Given the description of an element on the screen output the (x, y) to click on. 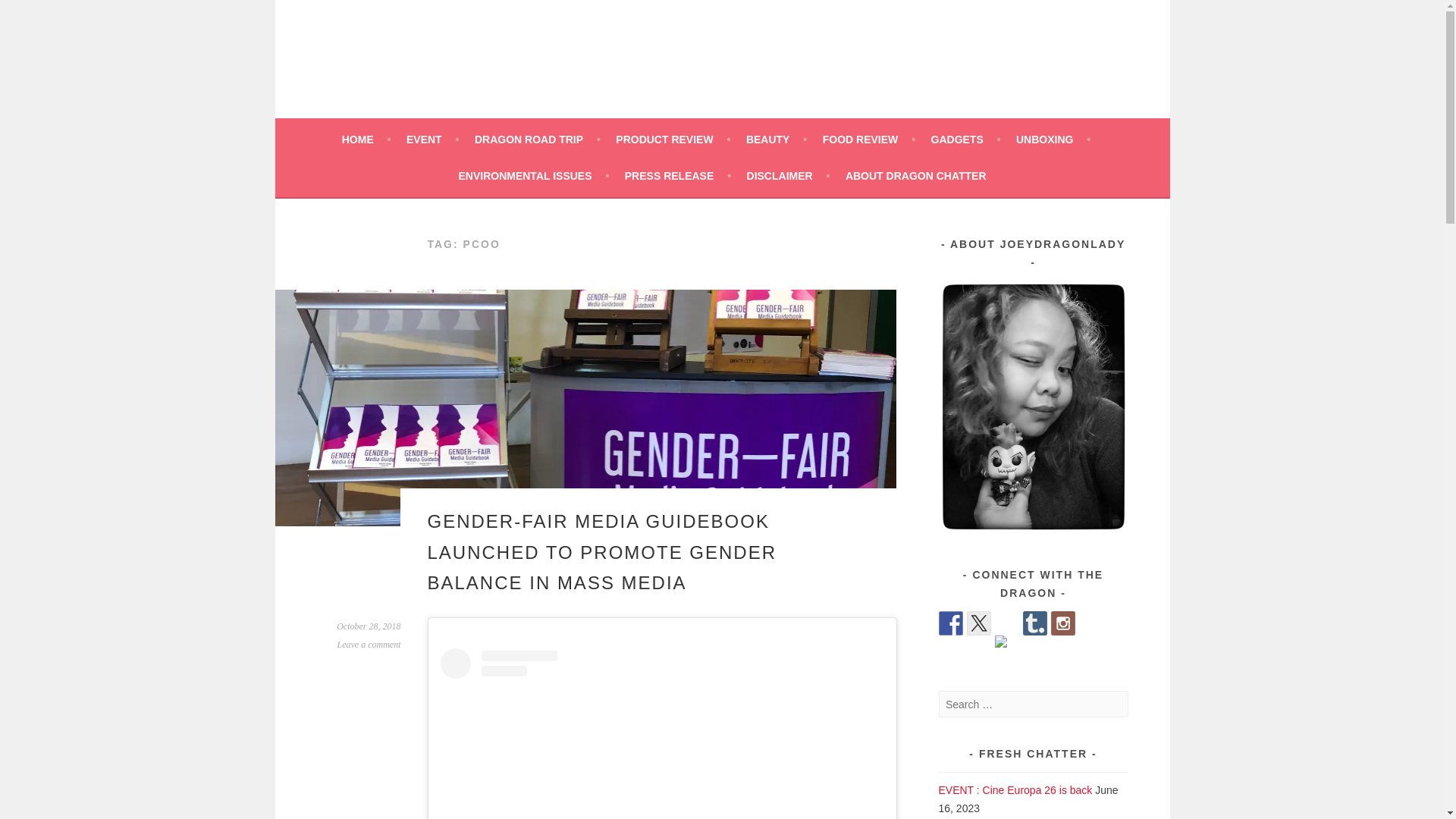
EVENT : Cine Europa 26 is back (1016, 789)
DISCLAIMER (787, 176)
Follow Dragon Chatter (950, 622)
BEAUTY (775, 139)
Leave a comment (369, 644)
Event (432, 139)
PRESS RELEASE (677, 176)
UNBOXING (1053, 139)
